Given the description of an element on the screen output the (x, y) to click on. 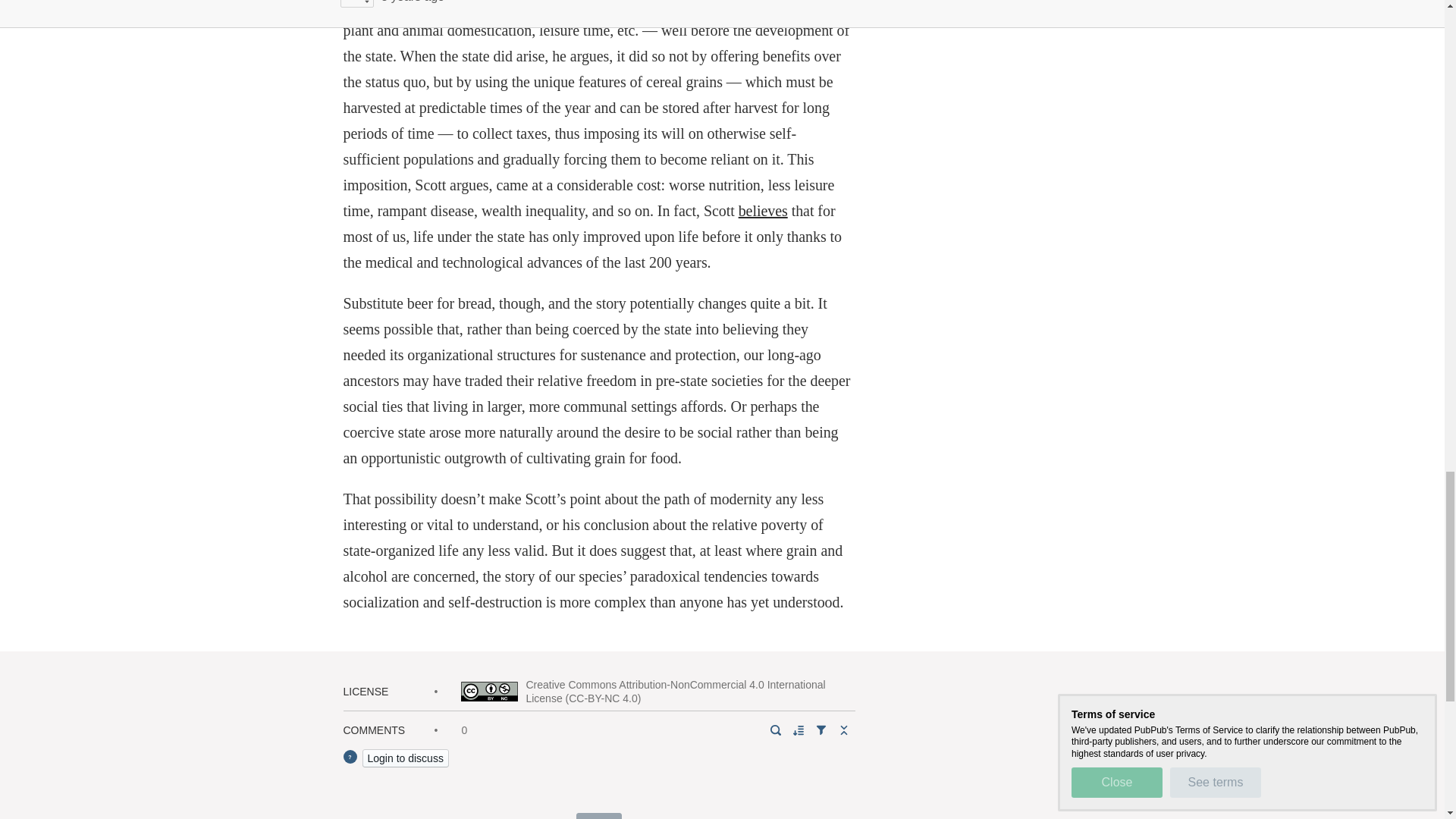
believes (762, 210)
